Given the description of an element on the screen output the (x, y) to click on. 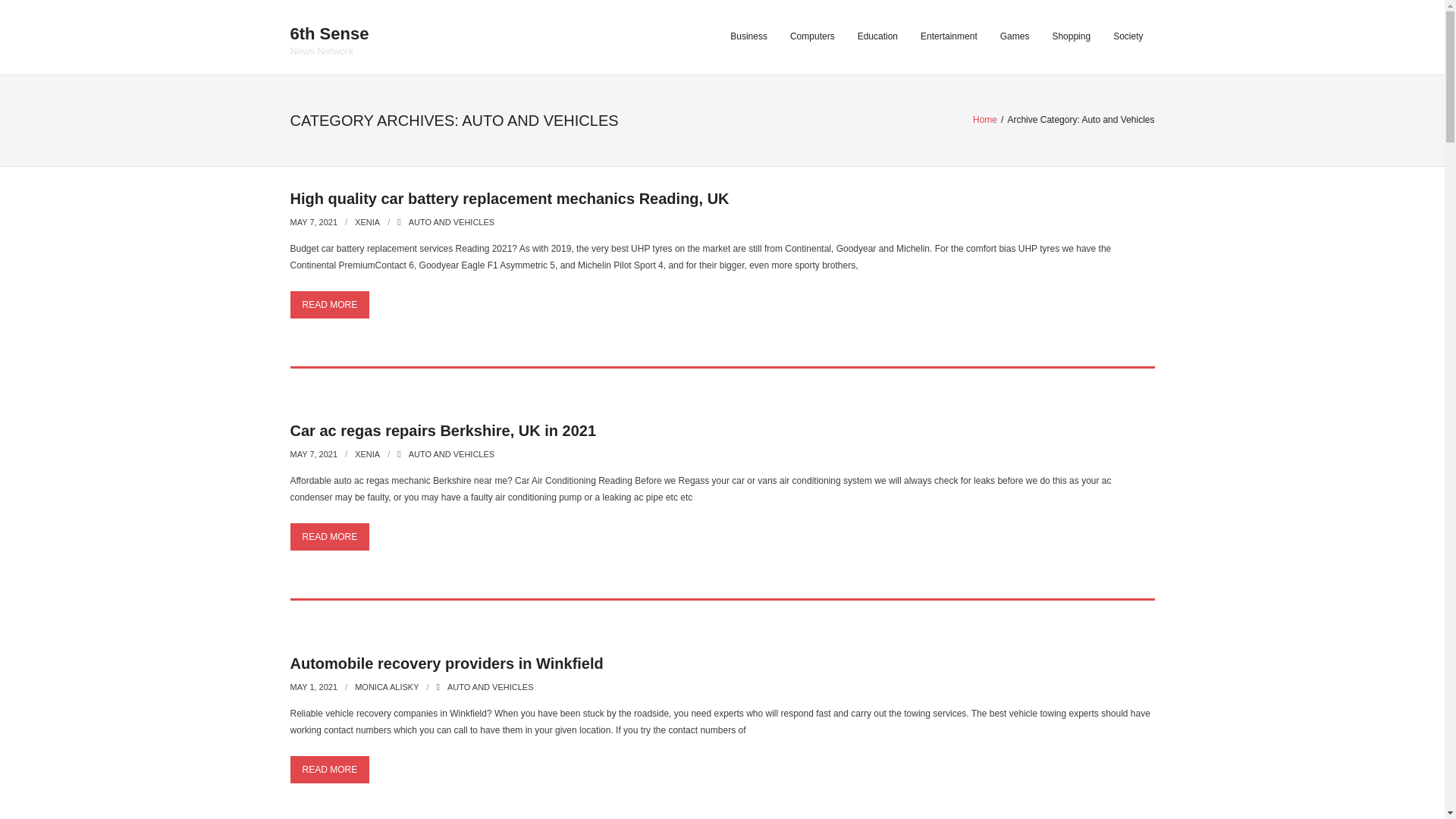
MAY 1, 2021 (313, 686)
6th Sense (328, 33)
High quality car battery replacement mechanics Reading, UK (509, 198)
News Network (328, 50)
AUTO AND VEHICLES (490, 686)
Car ac regas repairs Berkshire, UK in 2021 (442, 430)
Shopping (1071, 37)
READ MORE (329, 536)
View all posts by Monica Alisky (387, 686)
Home (984, 119)
Car ac regas repairs Berkshire, UK in 2021 (313, 453)
XENIA (367, 453)
Permalink to Automobile recovery providers in Winkfield (445, 663)
AUTO AND VEHICLES (452, 221)
